Given the description of an element on the screen output the (x, y) to click on. 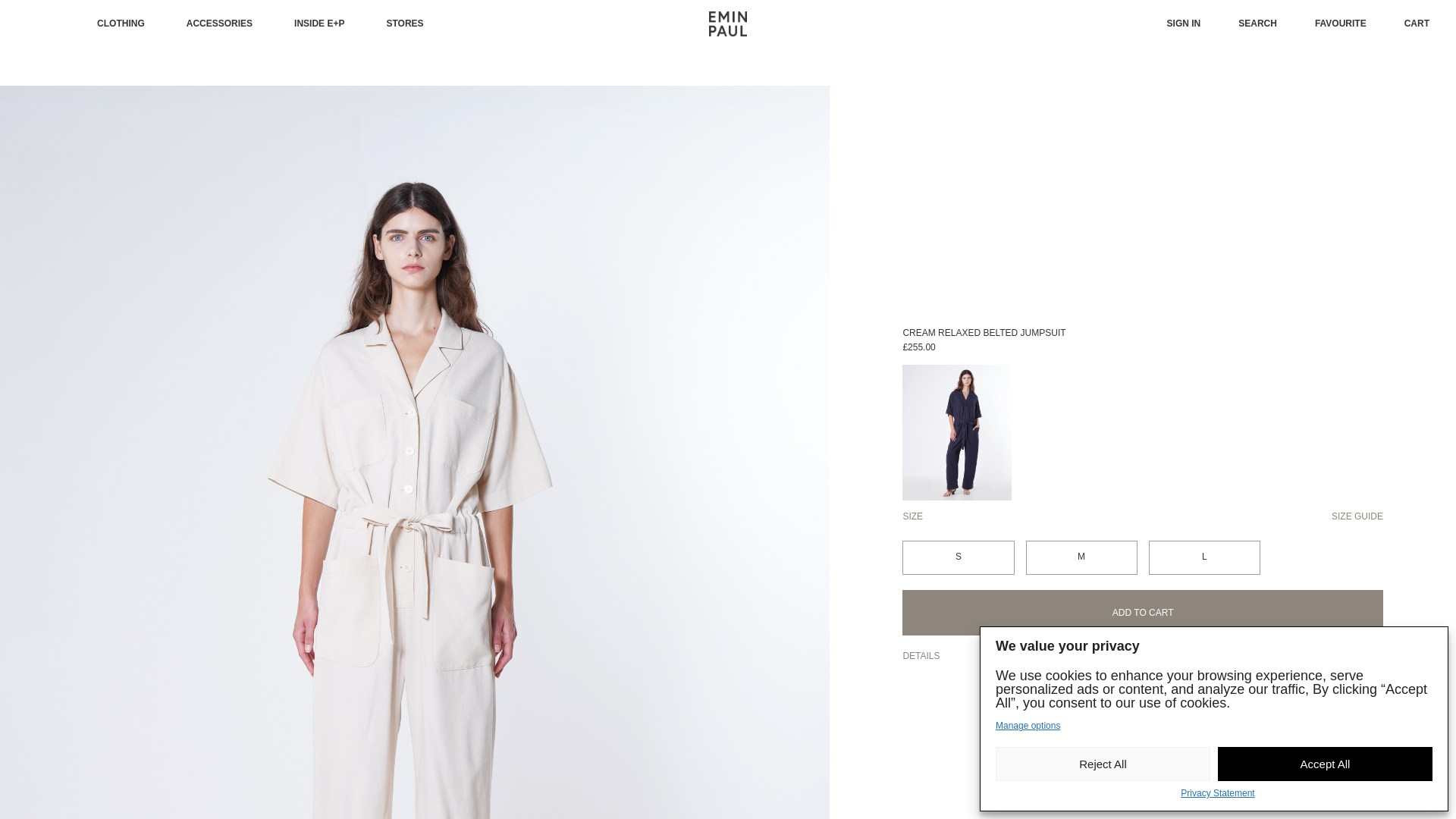
SIGN IN (1184, 23)
FAVOURITE (1340, 23)
Accept All (1324, 763)
STORES (404, 23)
CART (1417, 23)
ACCESSORIES (218, 23)
Privacy Statement (1216, 793)
Manage options (1027, 726)
SEARCH (1257, 23)
CLOTHING (120, 23)
Reject All (1102, 763)
